Given the description of an element on the screen output the (x, y) to click on. 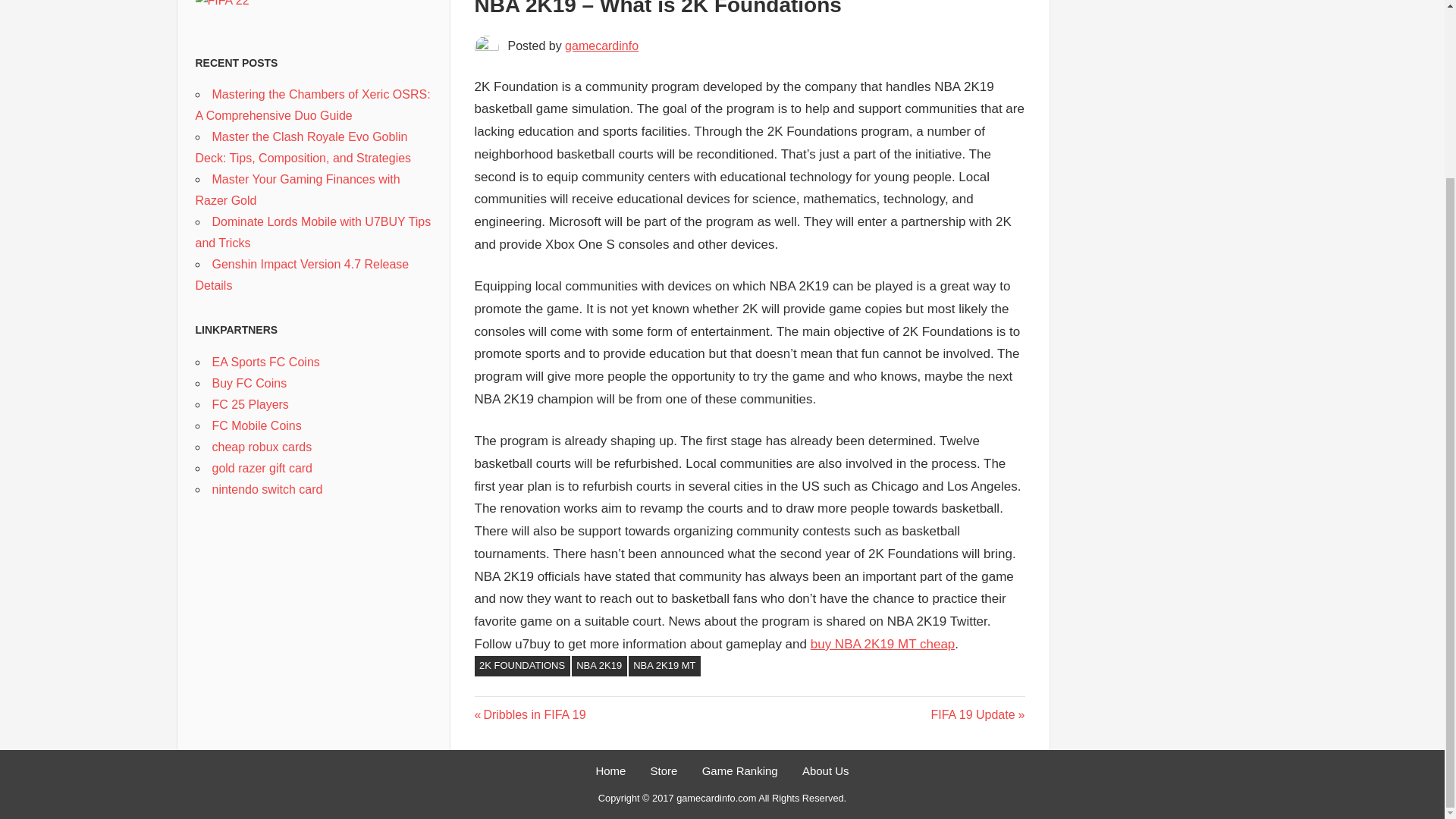
Genshin Impact Version 4.7 Release Details (302, 274)
buy NBA 2K19 MT cheap (882, 644)
NBA 2K19 MT (664, 665)
cheap robux cards (262, 445)
FC 25 Players (250, 403)
FC Mobile Coins (256, 424)
Home (610, 770)
NBA 2K19 (599, 665)
2K FOUNDATIONS (522, 665)
